Given the description of an element on the screen output the (x, y) to click on. 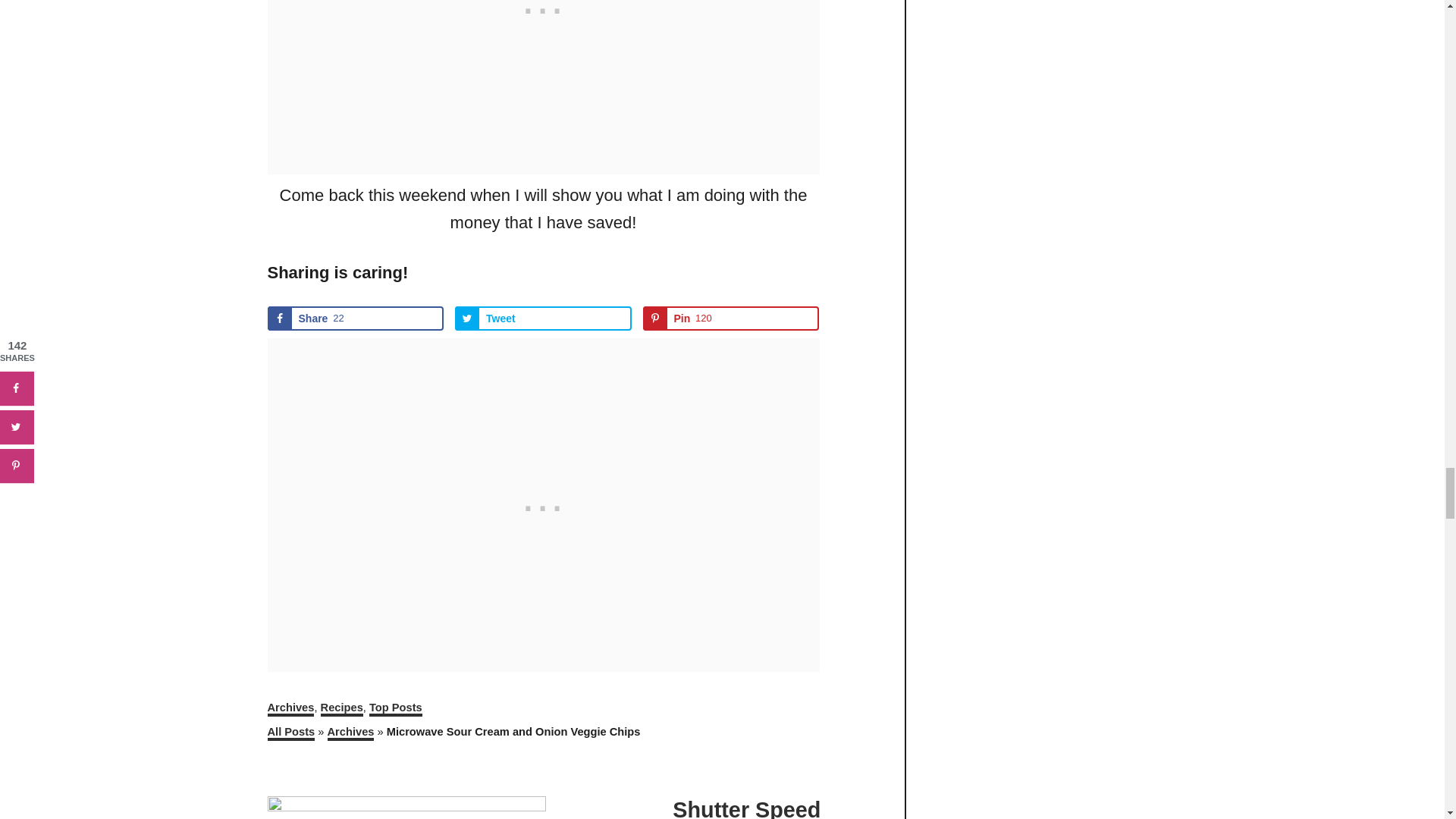
Share on Facebook (355, 318)
